Given the description of an element on the screen output the (x, y) to click on. 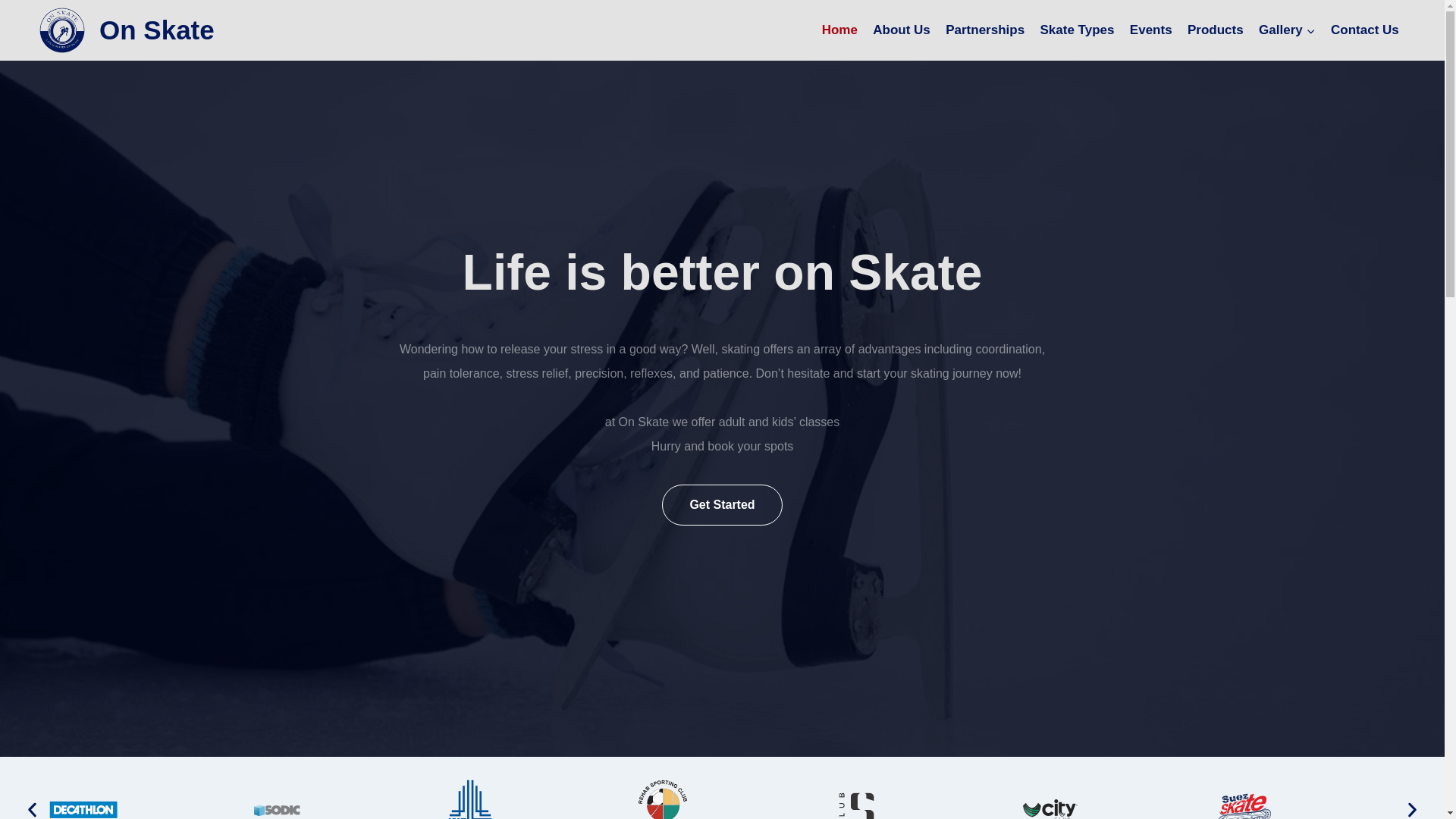
Contact Us (1364, 30)
Home (838, 30)
Partnerships (984, 30)
Get Started (721, 504)
Skate Types (1076, 30)
Events (1150, 30)
About Us (900, 30)
On Skate (125, 29)
Gallery (1286, 30)
Products (1214, 30)
